Given the description of an element on the screen output the (x, y) to click on. 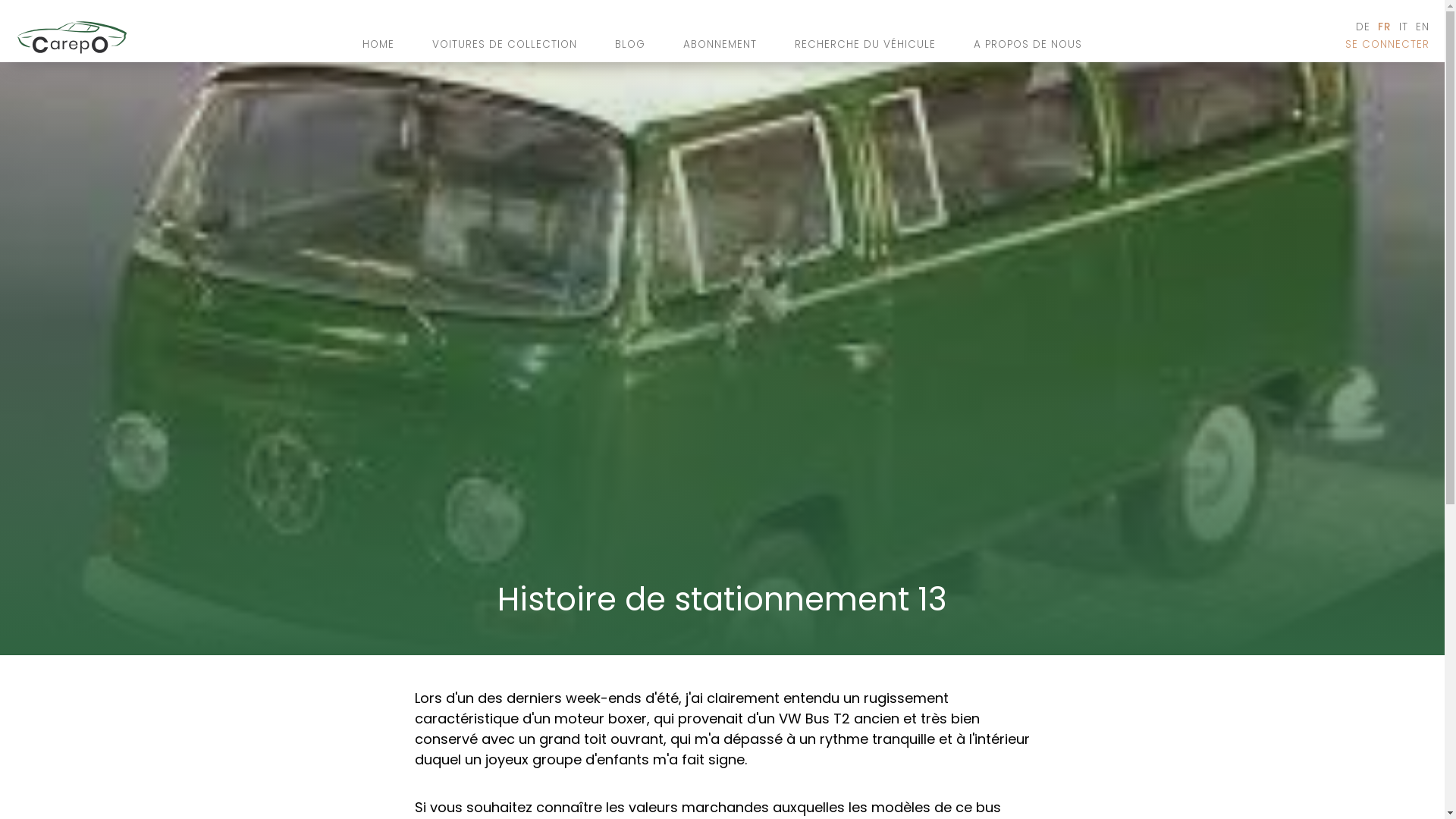
HOME Element type: text (378, 44)
IT Element type: text (1403, 26)
BLOG Element type: text (630, 44)
FR Element type: text (1384, 26)
DE Element type: text (1363, 26)
VOITURES DE COLLECTION Element type: text (504, 44)
SE CONNECTER Element type: text (1394, 44)
EN Element type: text (1428, 26)
ABONNEMENT Element type: text (719, 44)
A PROPOS DE NOUS Element type: text (1027, 44)
